Given the description of an element on the screen output the (x, y) to click on. 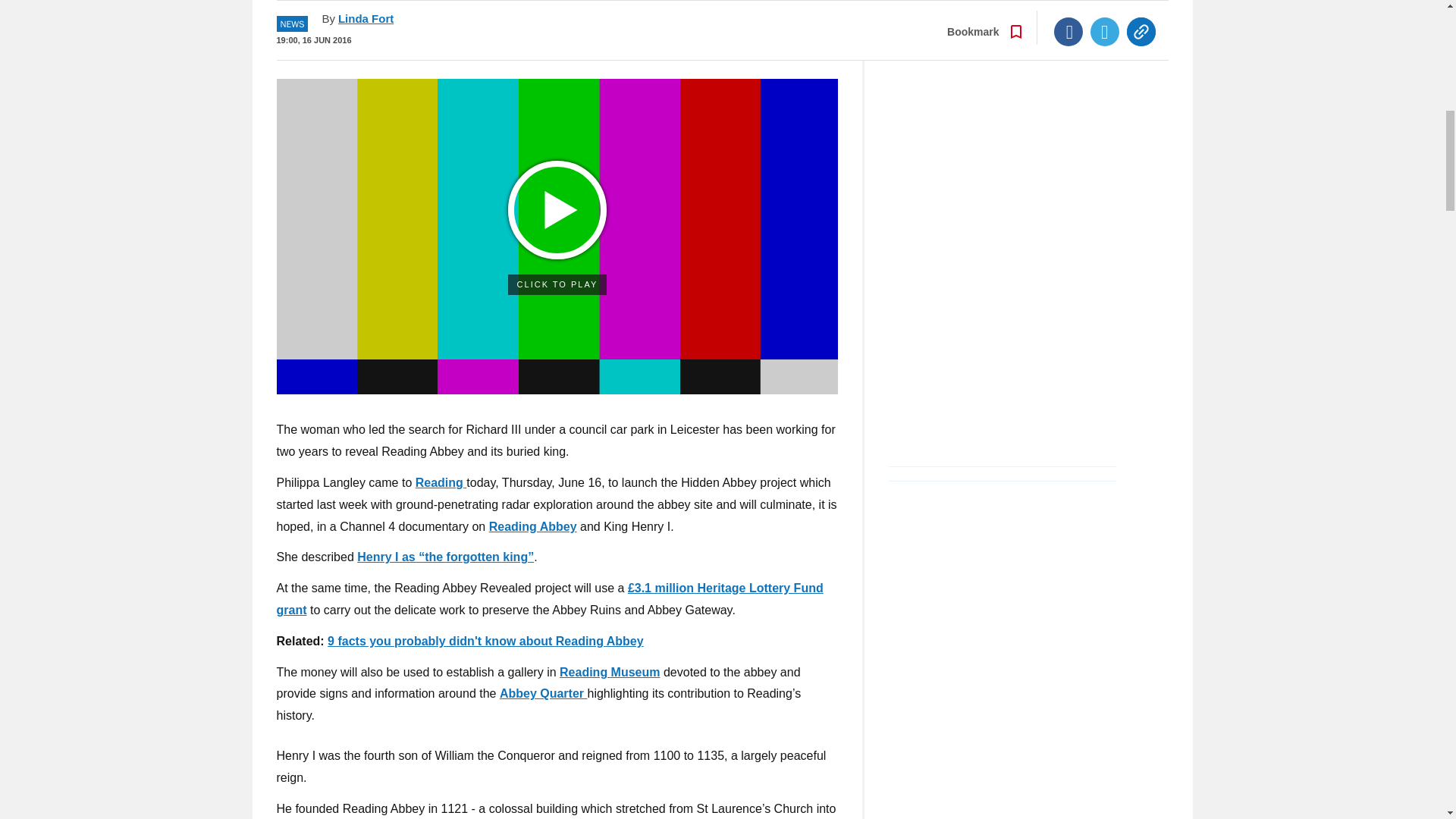
Go (730, 29)
